Given the description of an element on the screen output the (x, y) to click on. 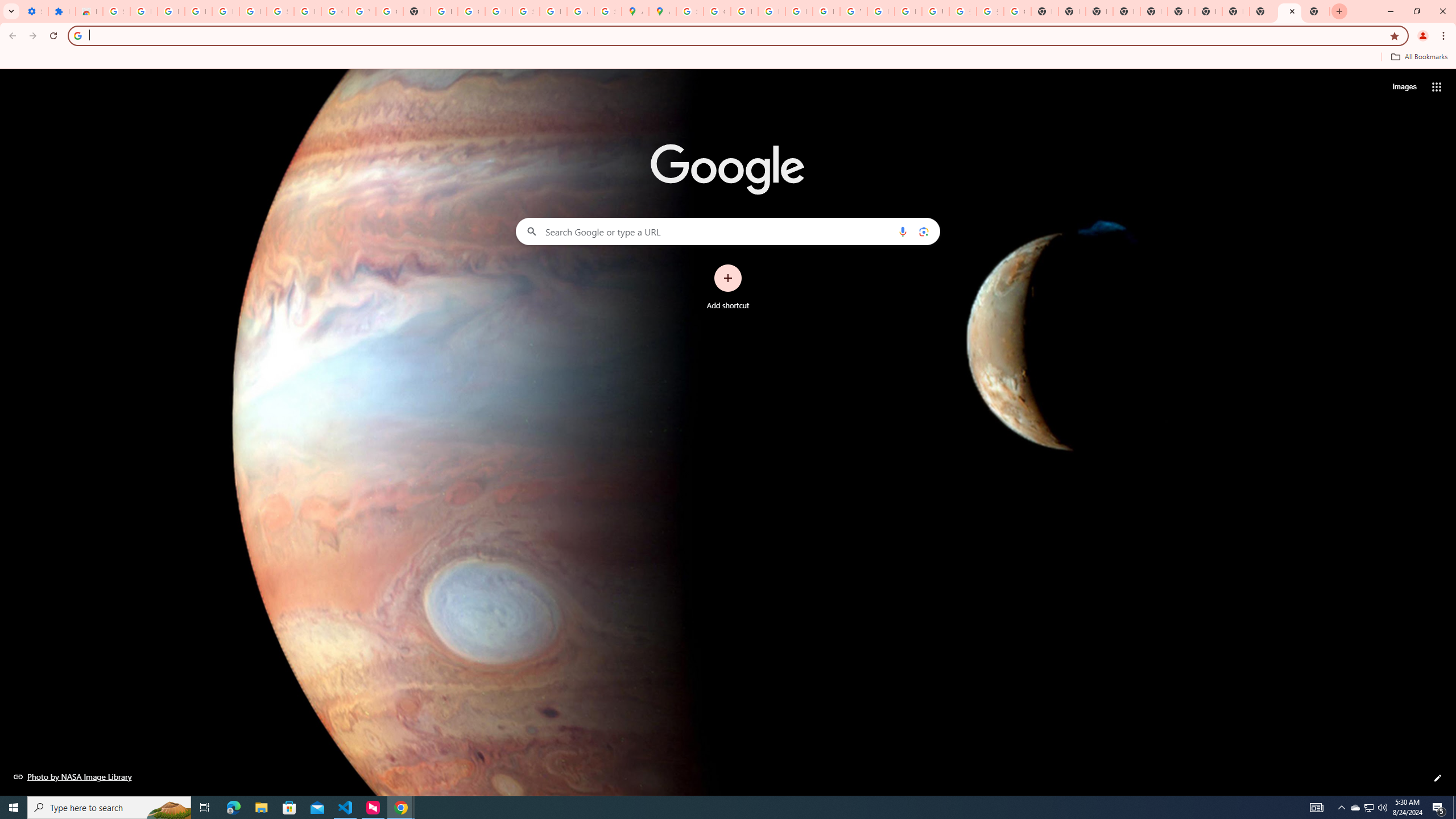
Photo by NASA Image Library (72, 776)
YouTube (853, 11)
Learn how to find your photos - Google Photos Help (225, 11)
New Tab (1126, 11)
